Given the description of an element on the screen output the (x, y) to click on. 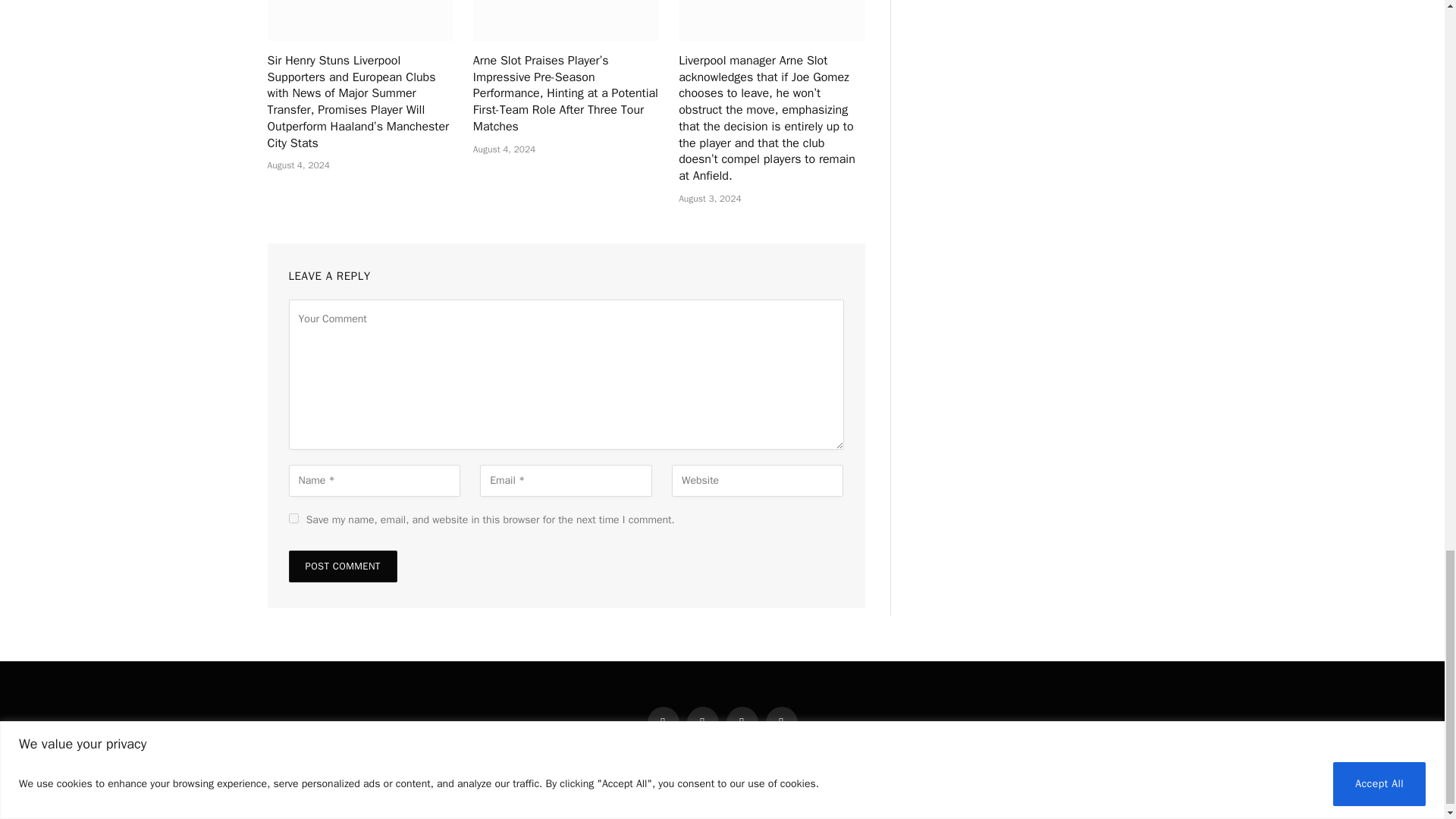
Post Comment (342, 566)
yes (293, 518)
